Given the description of an element on the screen output the (x, y) to click on. 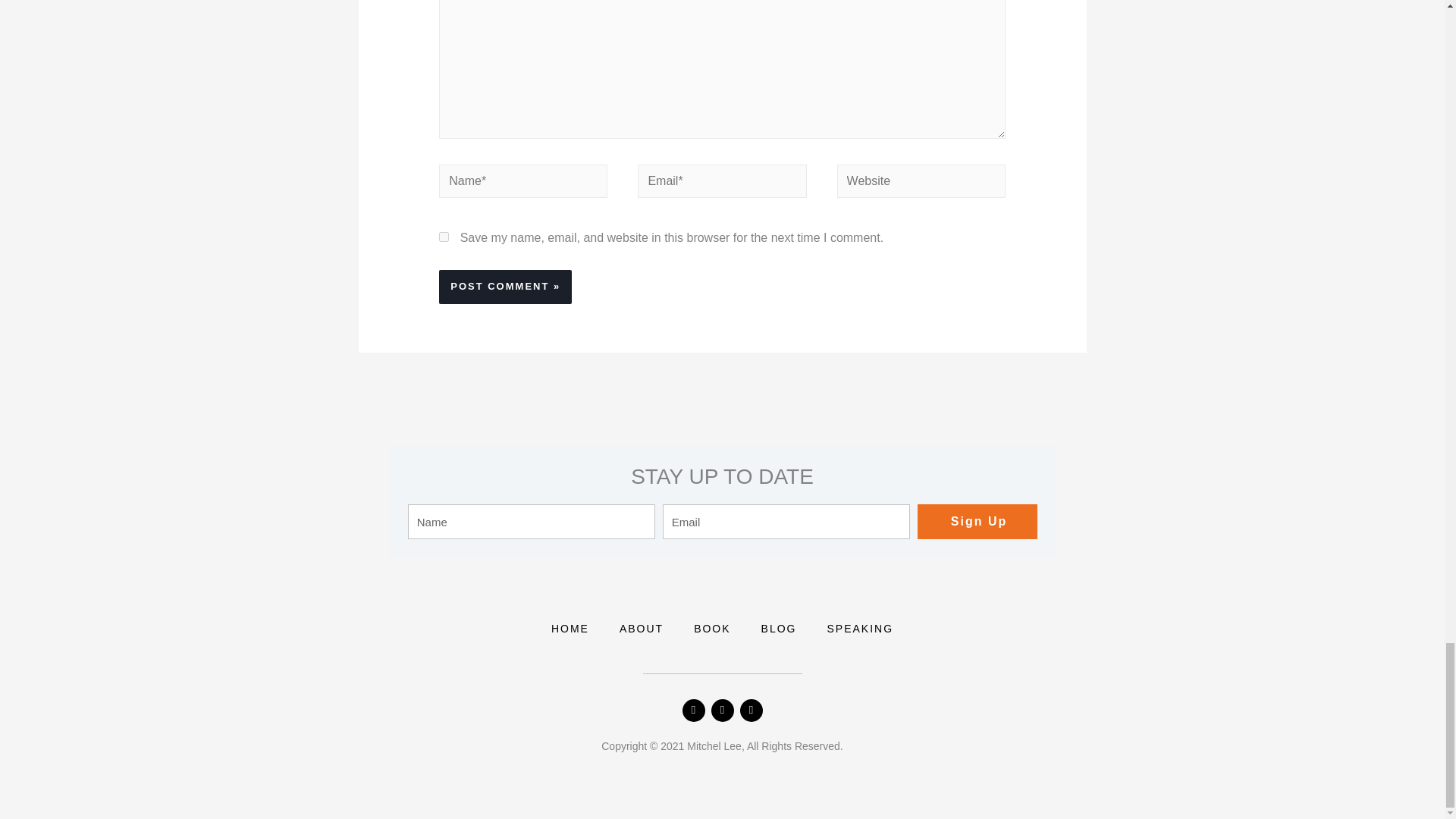
Sign Up (976, 521)
BLOG (778, 628)
yes (443, 236)
BOOK (711, 628)
ABOUT (641, 628)
SPEAKING (859, 628)
HOME (569, 628)
